Given the description of an element on the screen output the (x, y) to click on. 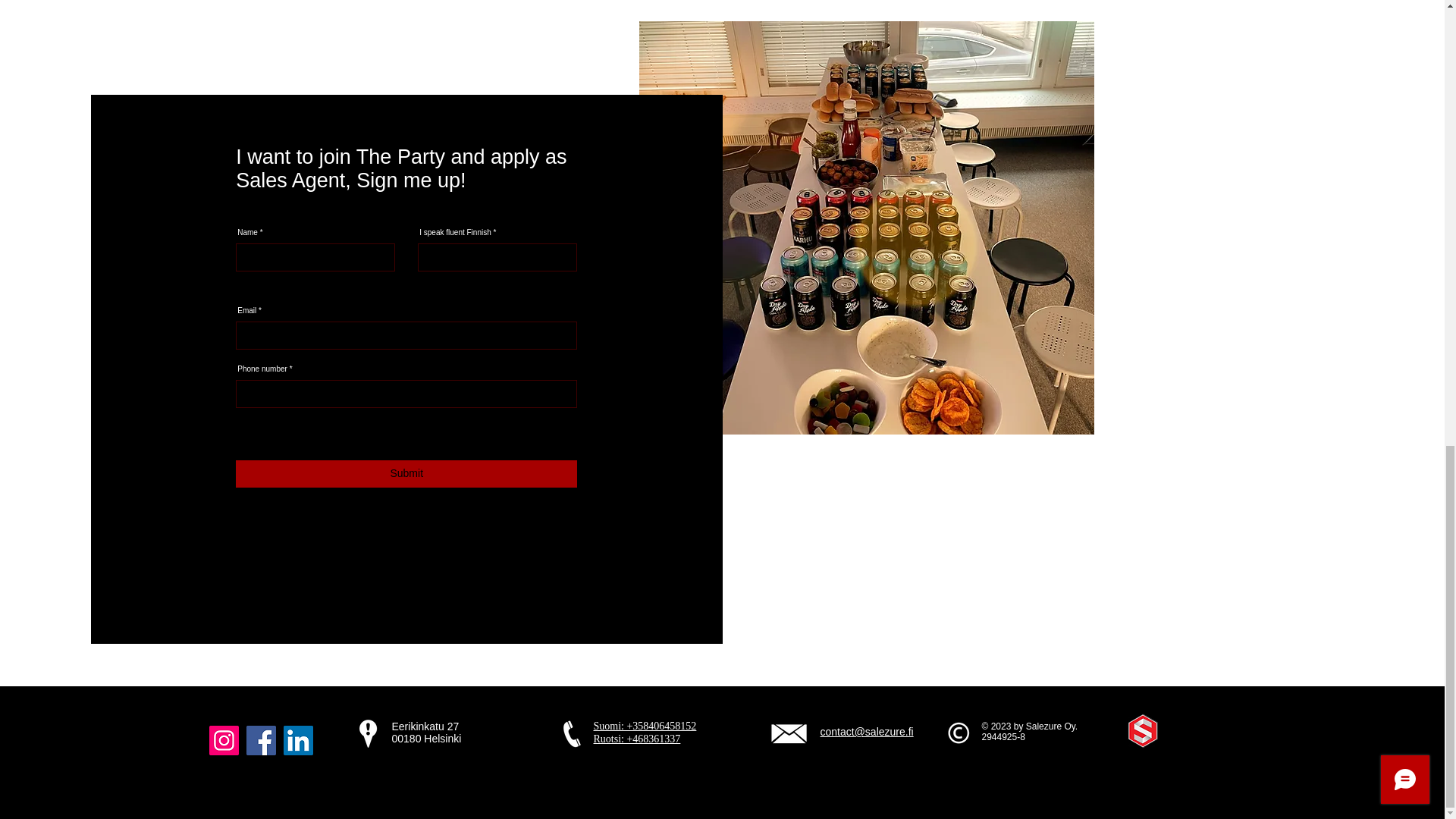
Submit (405, 473)
